Given the description of an element on the screen output the (x, y) to click on. 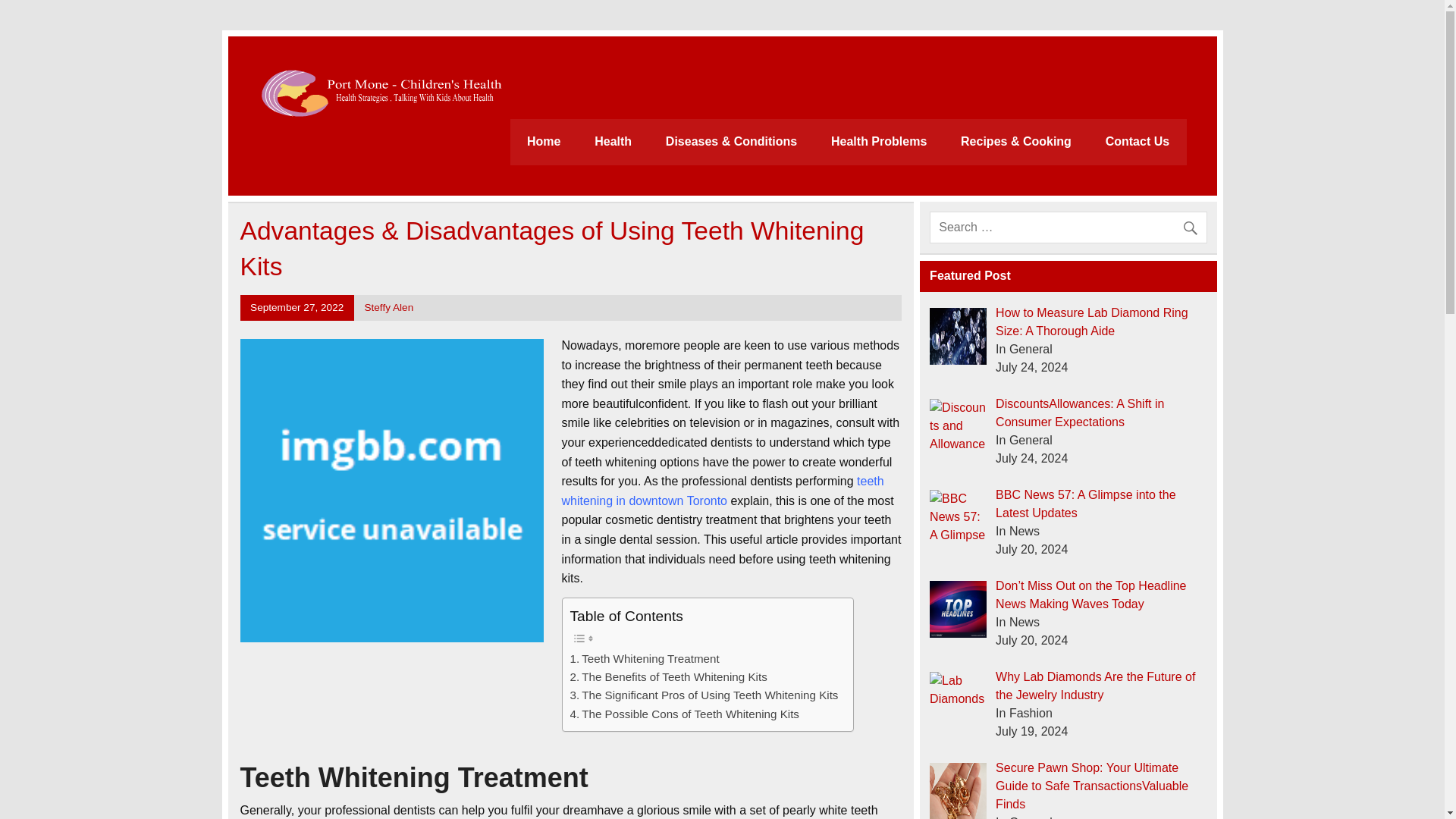
The Benefits of Teeth Whitening Kits (668, 677)
Discounts and Allowances: A Shift in Consumer Expectations (958, 426)
The Significant Pros of Using Teeth Whitening Kits (704, 695)
The Possible Cons of Teeth Whitening Kits (684, 714)
Why Lab Diamonds Are the Future of the Jewelry Industry (1095, 685)
DiscountsAllowances: A Shift in Consumer Expectations (1079, 412)
teeth whitening in downtown Toronto (721, 490)
The Benefits of Teeth Whitening Kits (668, 677)
BBC News 57: A Glimpse into the Latest Updates (1084, 503)
Teeth Whitening Treatment (644, 659)
View all posts by Steffy Alen (388, 307)
lab created diamonds (958, 335)
September 27, 2022 (296, 307)
Contact Us (1136, 141)
